Given the description of an element on the screen output the (x, y) to click on. 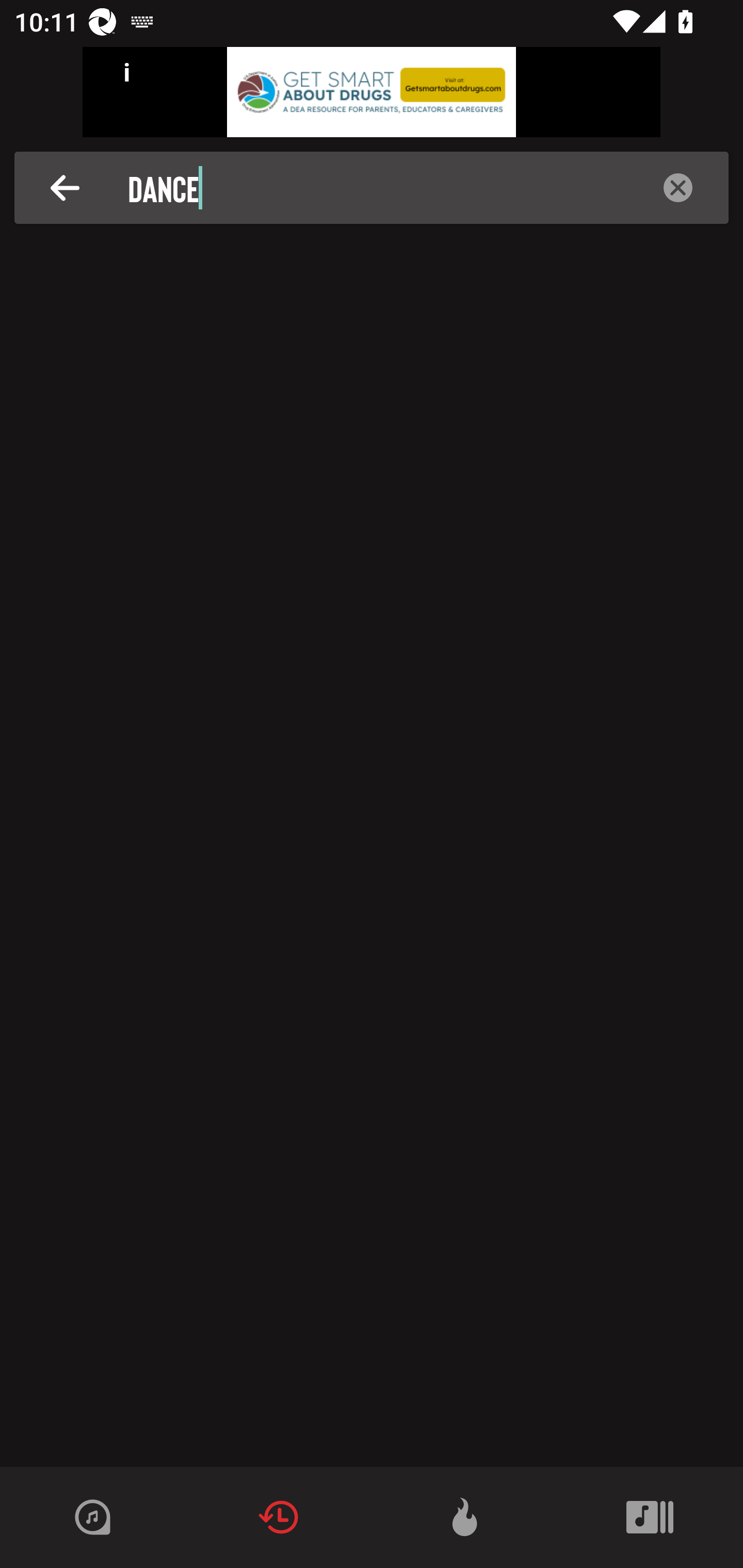
Dance (377, 188)
Description (64, 188)
Description (677, 188)
